Given the description of an element on the screen output the (x, y) to click on. 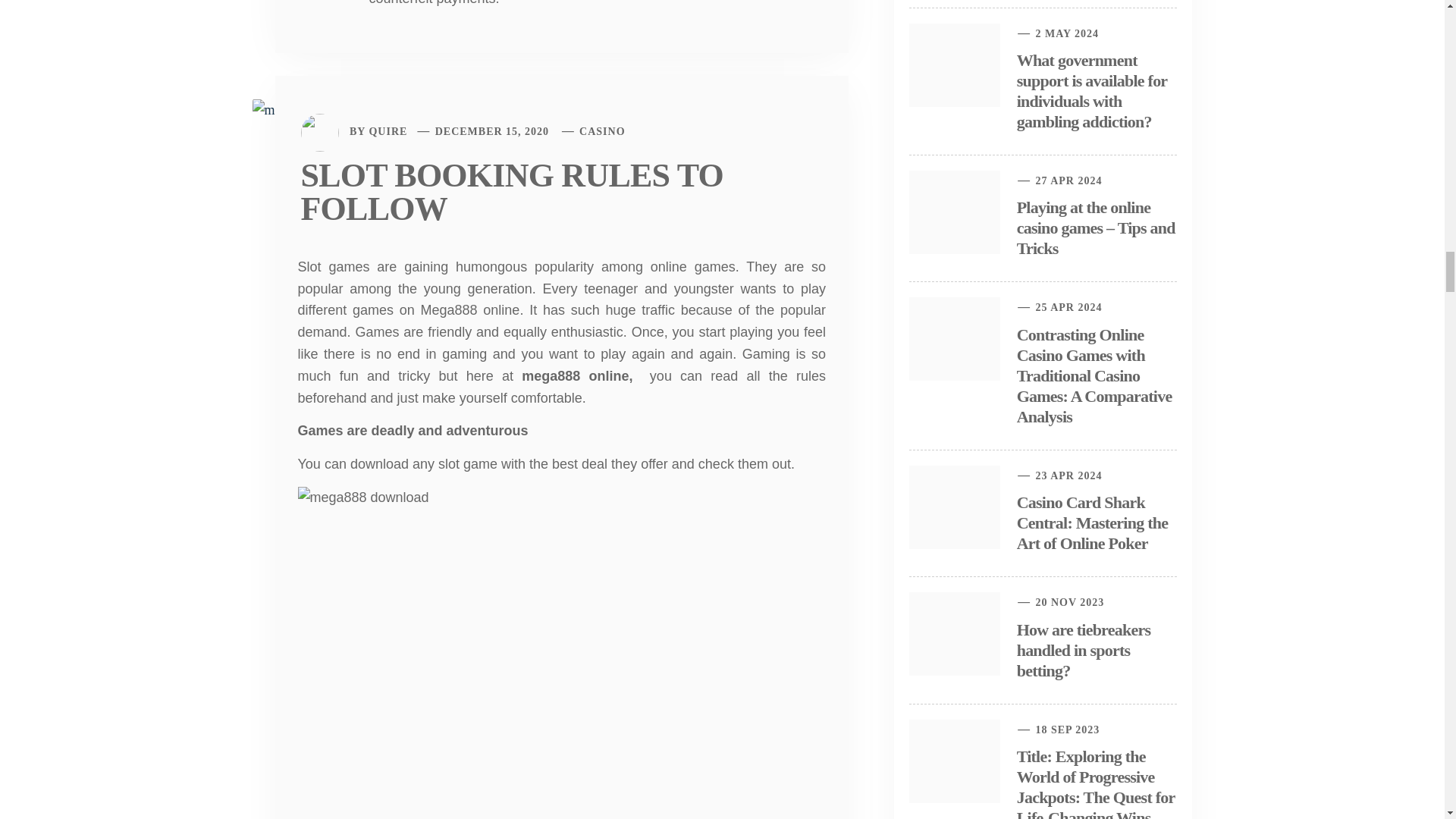
QUIRE (387, 131)
SLOT BOOKING RULES TO FOLLOW (311, 109)
CASINO (601, 131)
mega888 online (574, 376)
DECEMBER 15, 2020 (491, 131)
SLOT BOOKING RULES TO FOLLOW (510, 192)
